Given the description of an element on the screen output the (x, y) to click on. 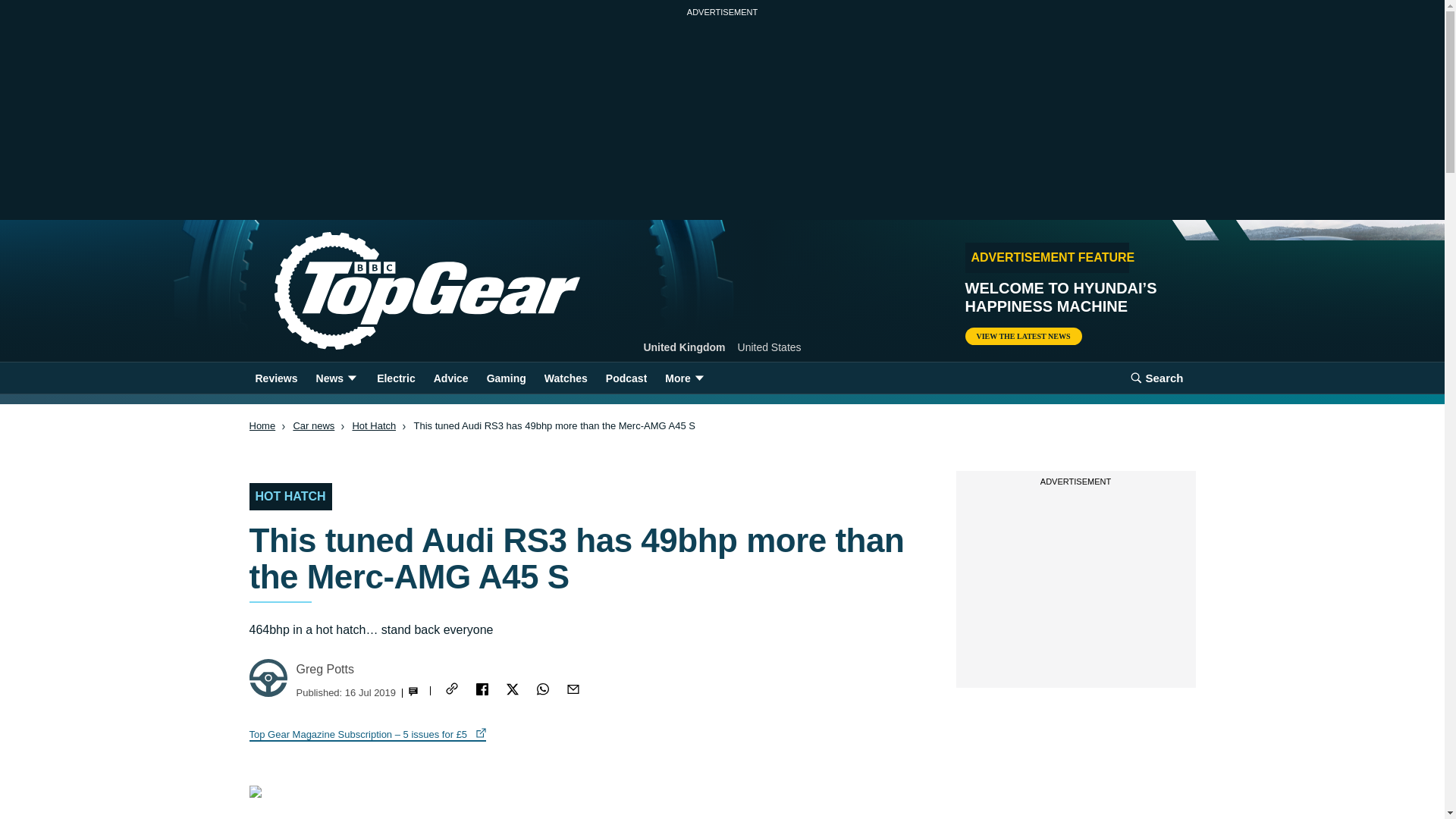
Search (1156, 377)
Watches (566, 377)
Reviews (275, 377)
United Kingdom (684, 347)
Home (401, 290)
Greg Potts (324, 669)
Search (1156, 377)
More (685, 377)
News (337, 377)
Home (261, 425)
